Given the description of an element on the screen output the (x, y) to click on. 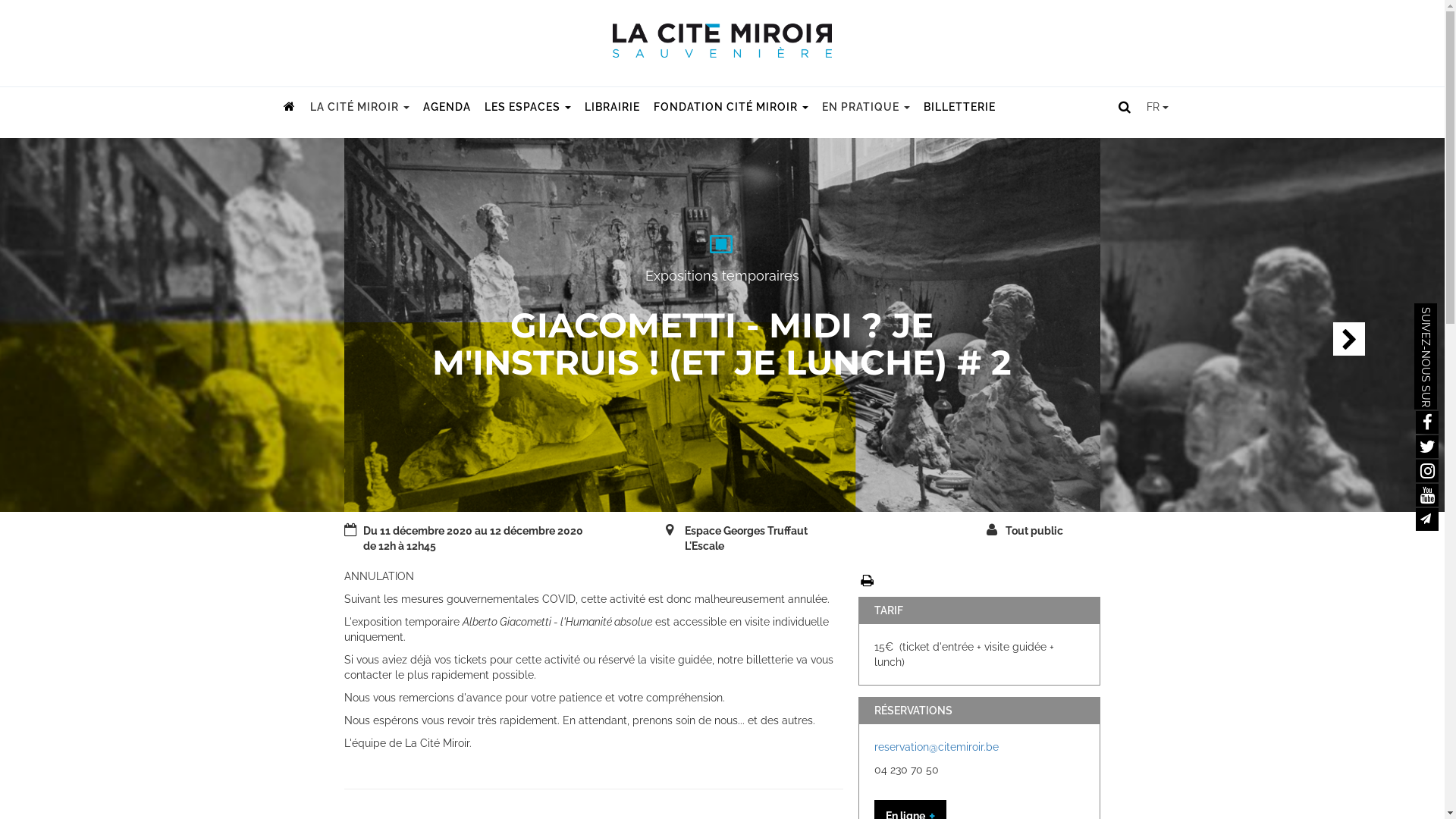
LIBRAIRIE Element type: text (611, 106)
Rechercher Element type: text (1121, 106)
FR Element type: text (1156, 106)
twitter Element type: hover (1426, 446)
ACCUEIL Element type: text (289, 106)
facebook Element type: hover (1426, 422)
Aller au contenu principal Element type: text (63, 132)
youtube Element type: hover (1426, 494)
instagram Element type: hover (1426, 470)
AGENDA Element type: text (445, 106)
LES ESPACES Element type: text (527, 106)
reservation@citemiroir.be Element type: text (936, 746)
BILLETTERIE Element type: text (958, 106)
